Given the description of an element on the screen output the (x, y) to click on. 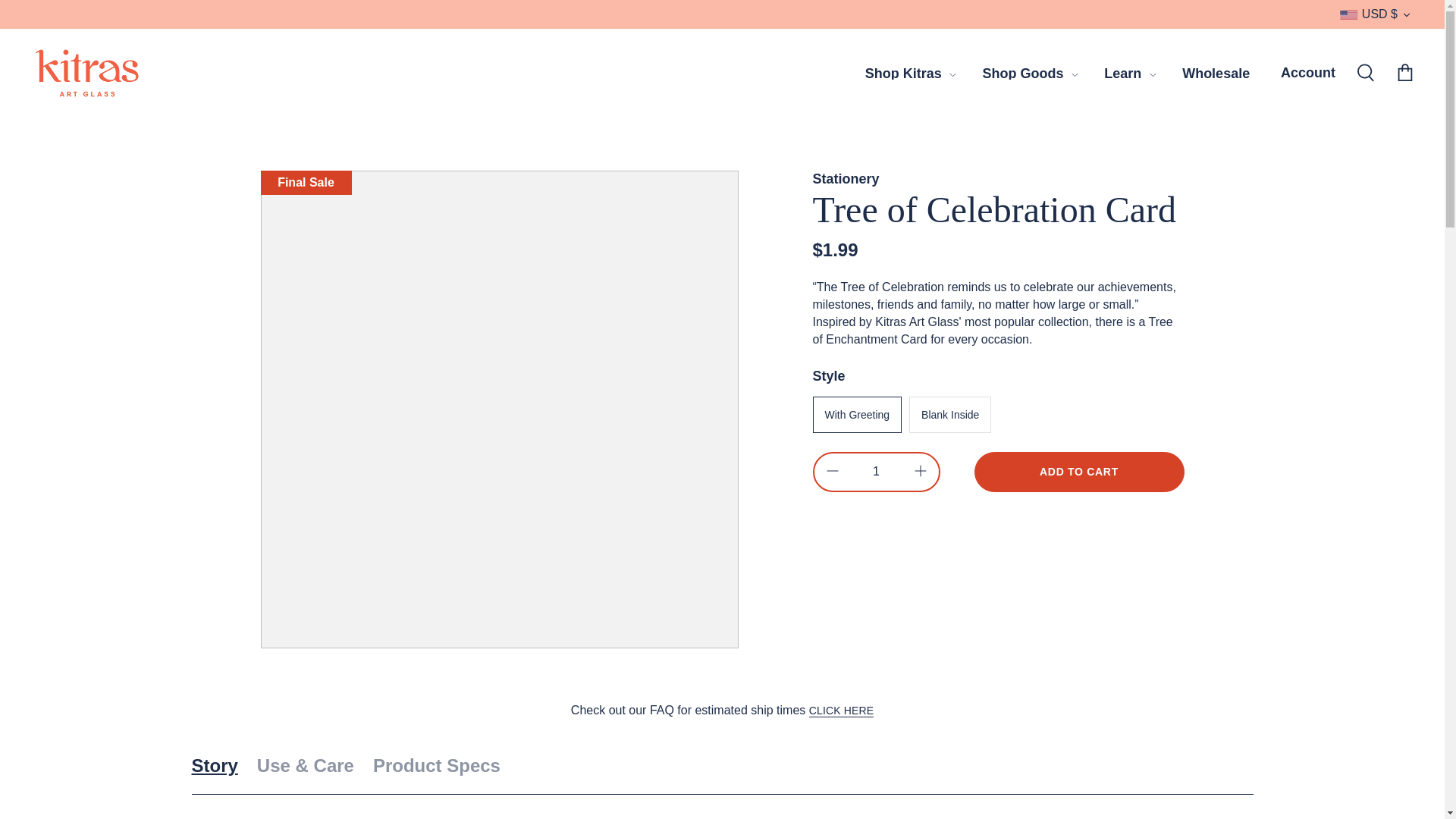
Shop Kitras (903, 73)
Wholesale (1216, 73)
Down (1406, 14)
FAQ (841, 710)
Learn (1122, 73)
Kitras Art Glass Inc (87, 73)
1 (877, 471)
Plus (920, 470)
Account (1308, 72)
Minus (832, 470)
Shop Goods (1023, 73)
